Given the description of an element on the screen output the (x, y) to click on. 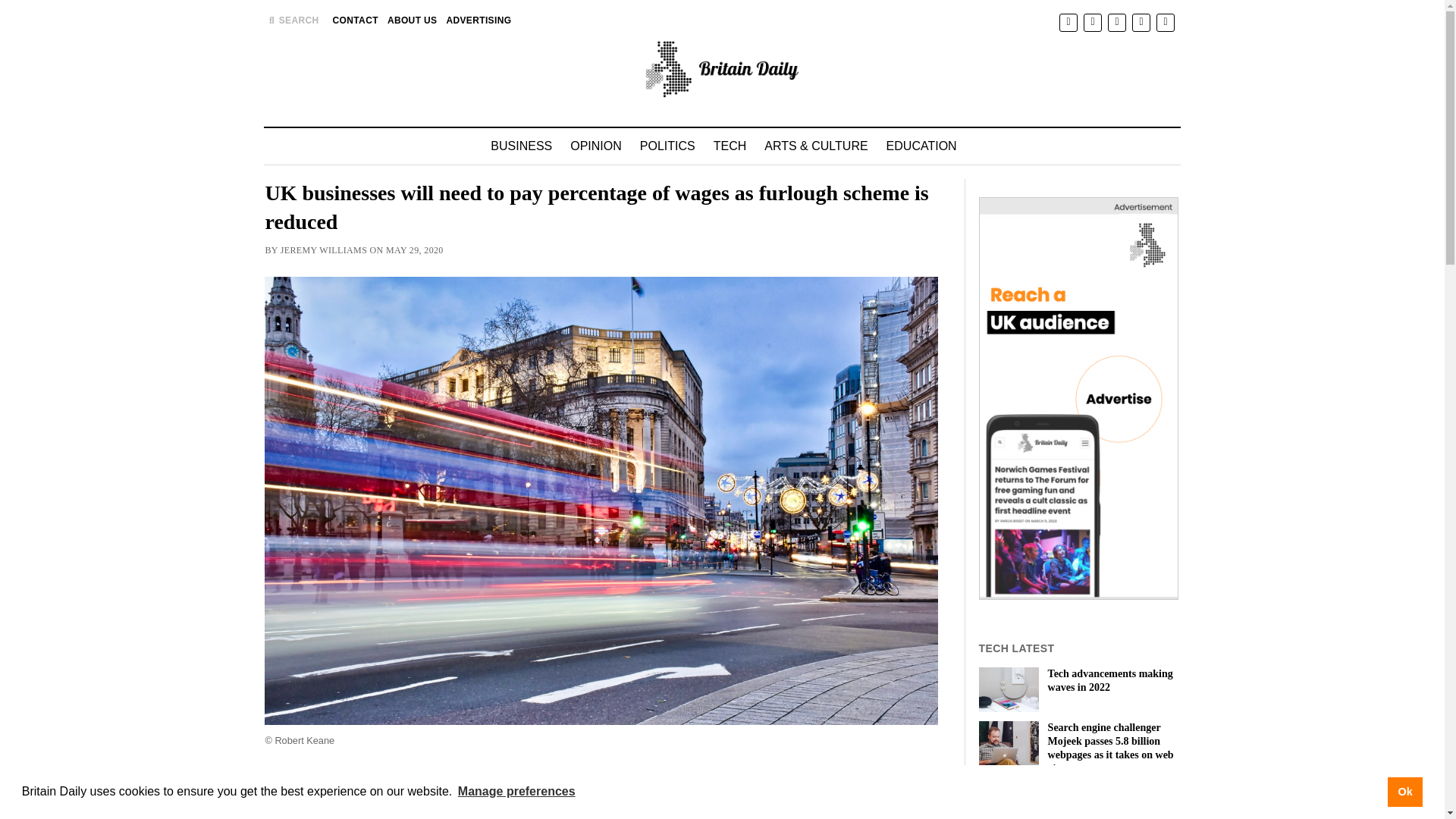
BUSINESS (520, 145)
Tech advancements making waves in 2022 (1078, 680)
ABOUT US (412, 20)
POLITICS (667, 145)
ADVERTISING (478, 20)
OPINION (595, 145)
CONTACT (355, 20)
Manage preferences (516, 791)
Search (945, 129)
SEARCH (290, 20)
EDUCATION (921, 145)
Ok (1404, 791)
TECH (729, 145)
